Given the description of an element on the screen output the (x, y) to click on. 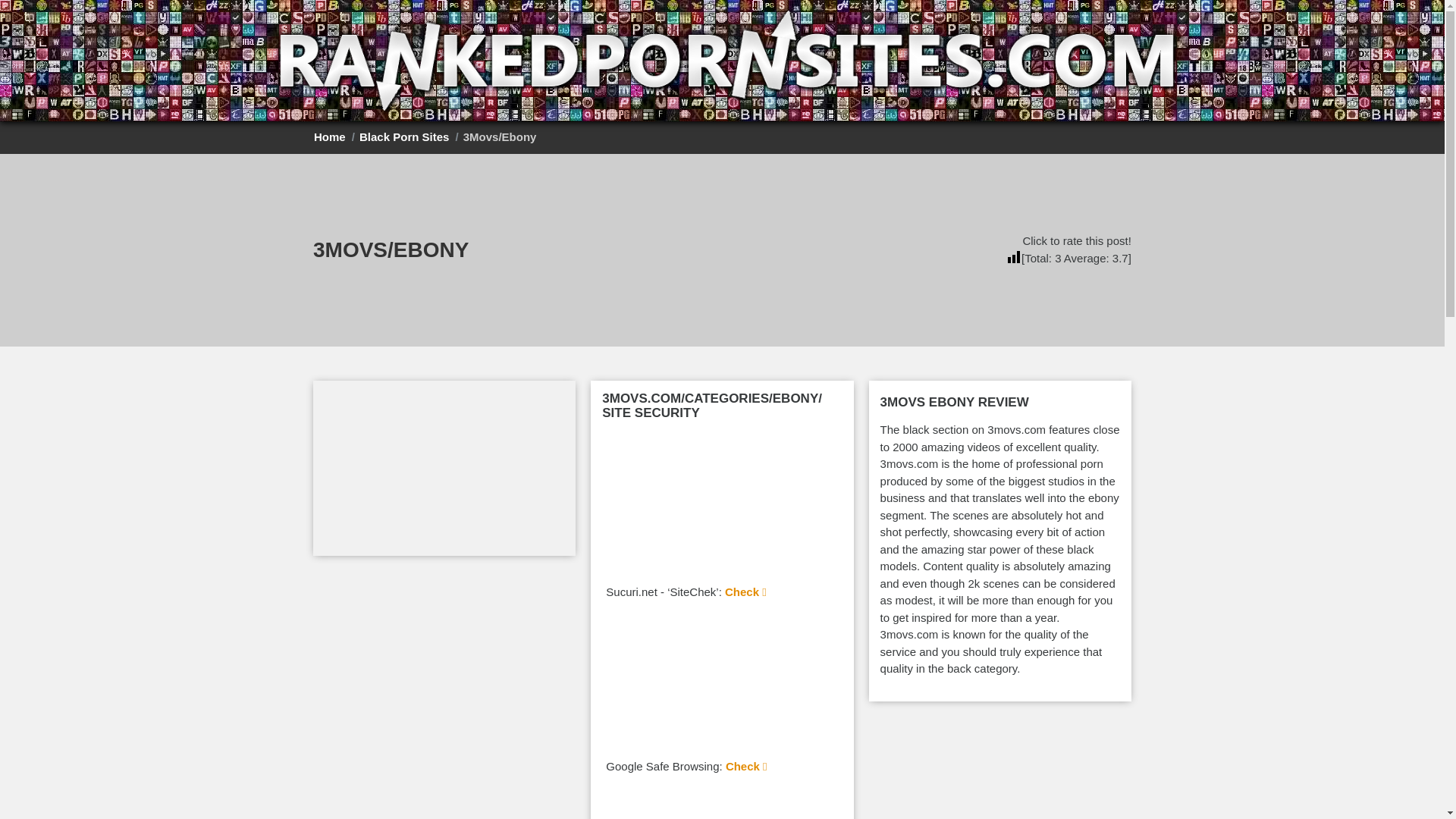
Black Porn Sites (403, 136)
Check (746, 591)
Check (746, 766)
Home (330, 136)
